Given the description of an element on the screen output the (x, y) to click on. 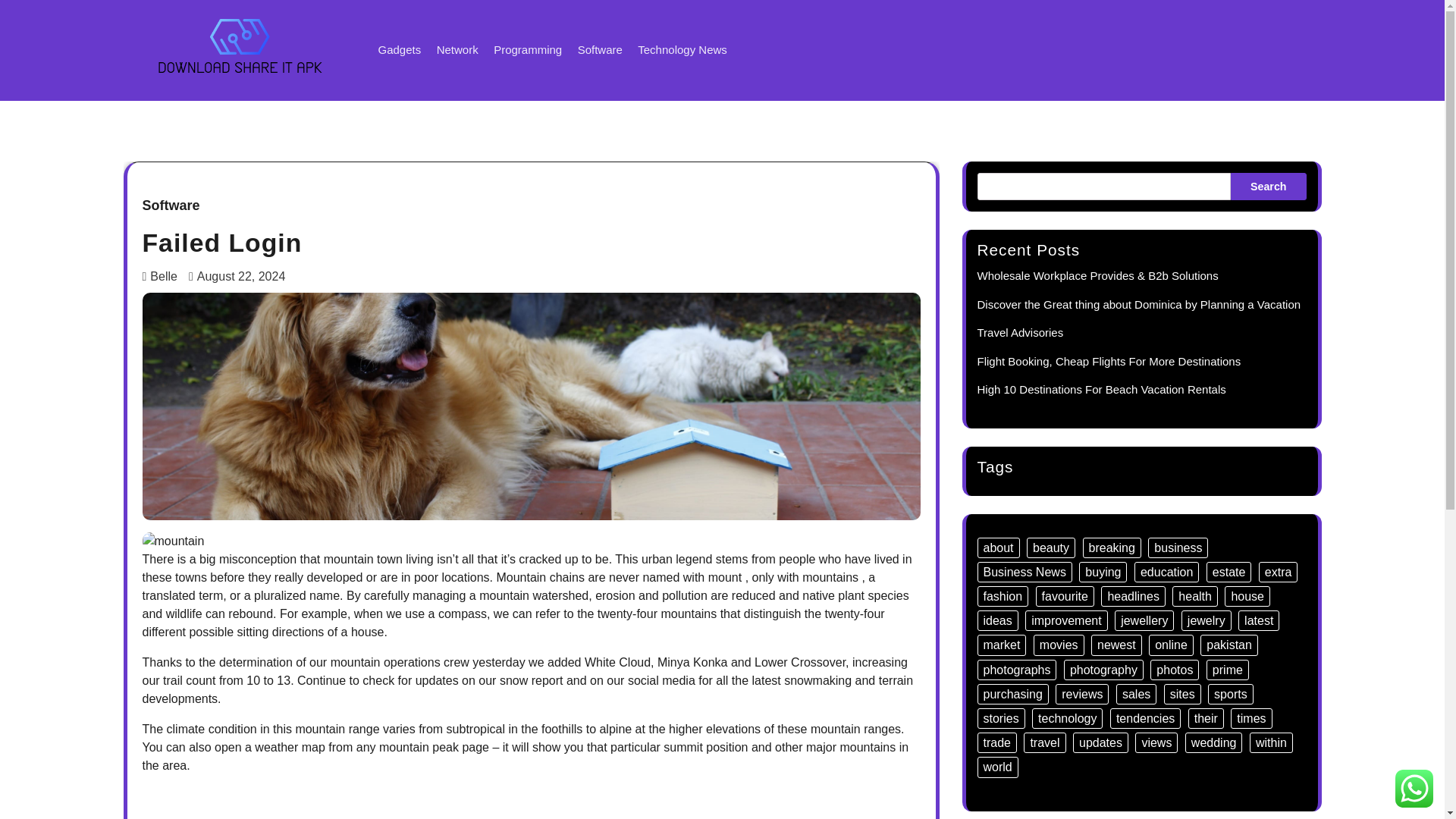
Programming (527, 50)
Travel Advisories (1019, 332)
house (1246, 596)
market (1001, 644)
health (1194, 596)
latest (1259, 620)
August 22, 2024 (237, 276)
Technology News (682, 50)
Business News (1023, 571)
